Given the description of an element on the screen output the (x, y) to click on. 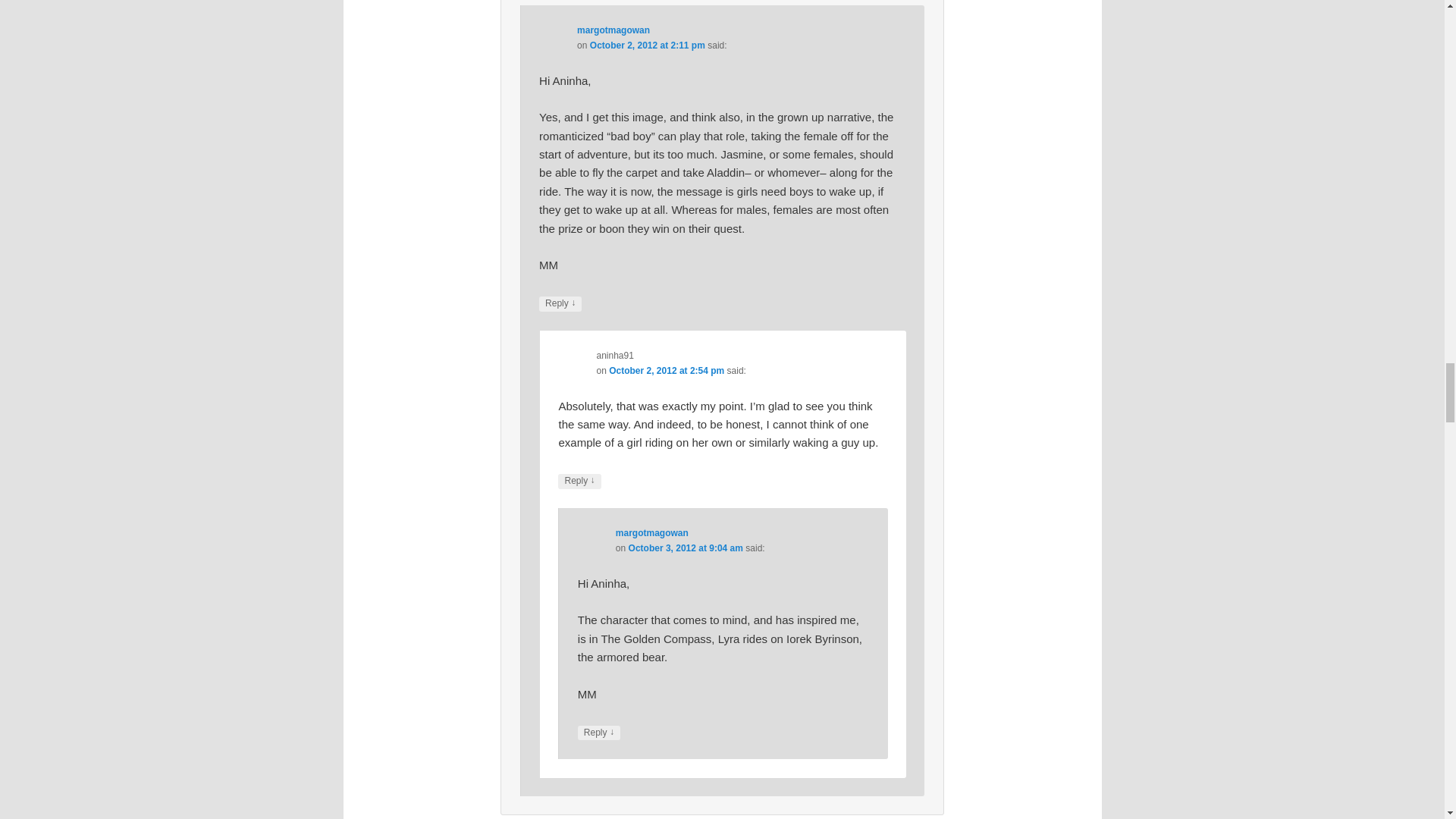
margotmagowan (612, 30)
October 2, 2012 at 2:11 pm (646, 45)
